Given the description of an element on the screen output the (x, y) to click on. 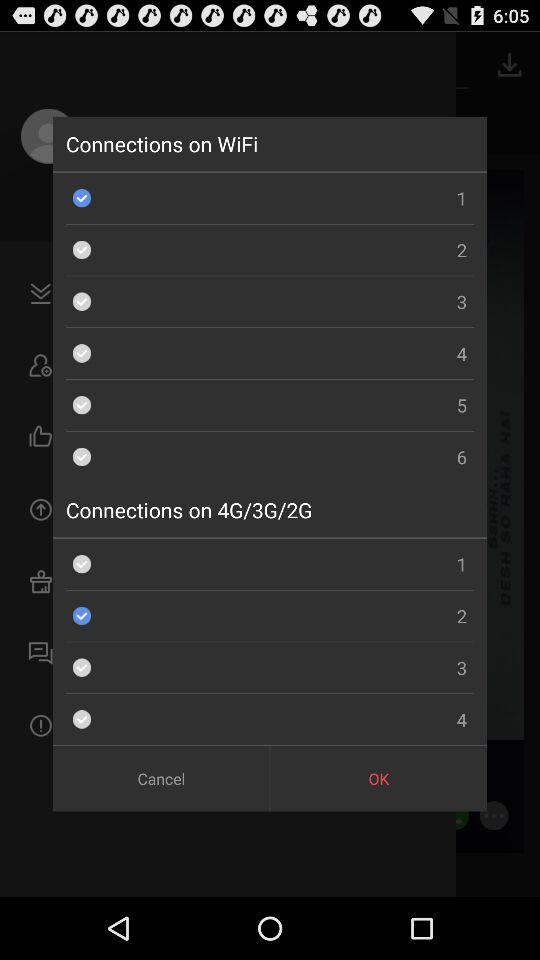
select the ok button (378, 778)
